Given the description of an element on the screen output the (x, y) to click on. 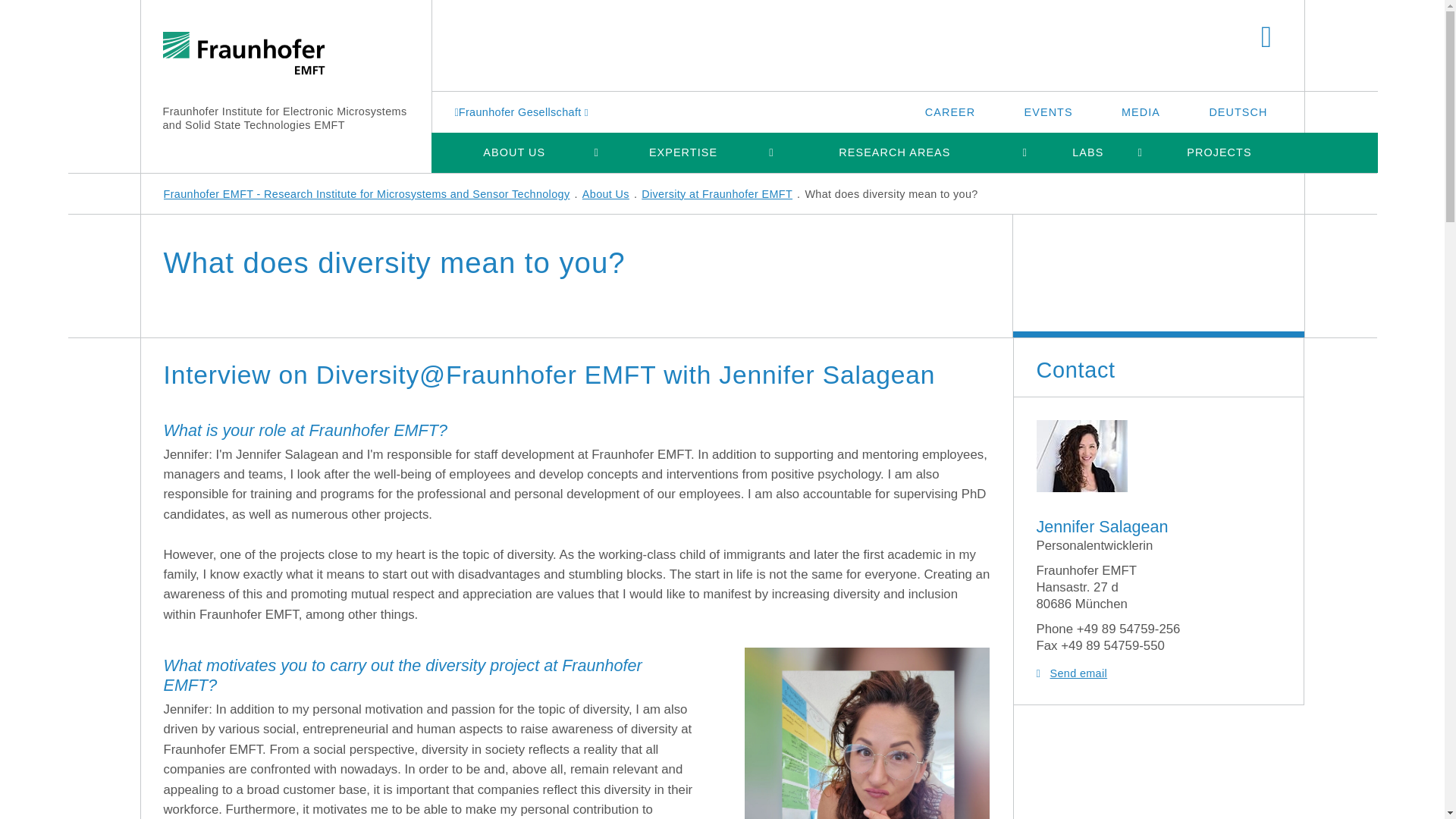
EVENTS (1048, 111)
ABOUT US (513, 151)
Fraunhofer Gesellschaft (523, 111)
EXPERTISE (682, 151)
Weblogo Fraunhofer EMFT (242, 53)
DEUTSCH (1238, 111)
SEARCH (1266, 37)
MEDIA (1140, 111)
Portrait Jennifer Alonzo (1080, 456)
